Given the description of an element on the screen output the (x, y) to click on. 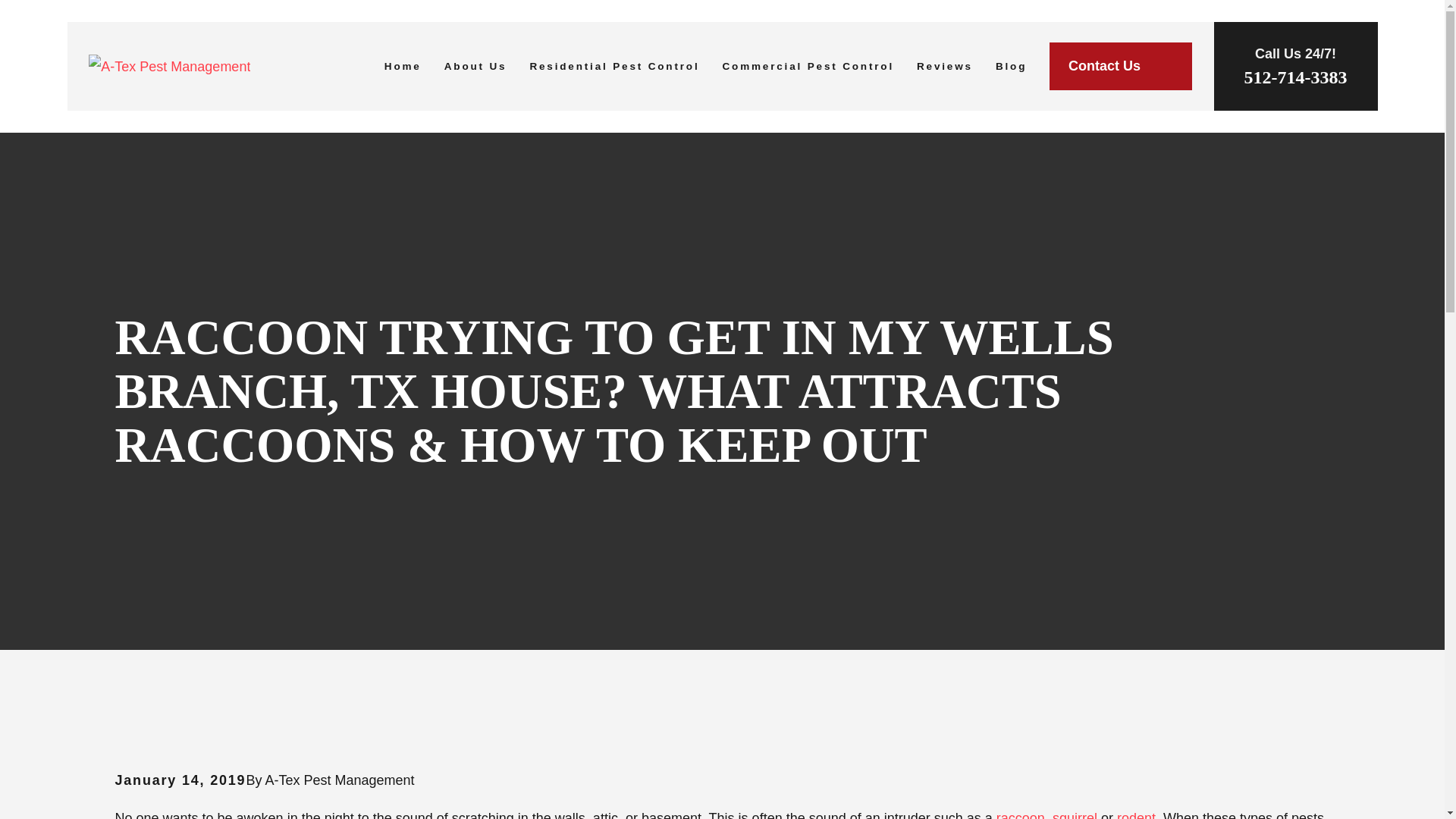
Residential Pest Control (613, 66)
Home (403, 66)
Home (169, 66)
About Us (475, 66)
